Given the description of an element on the screen output the (x, y) to click on. 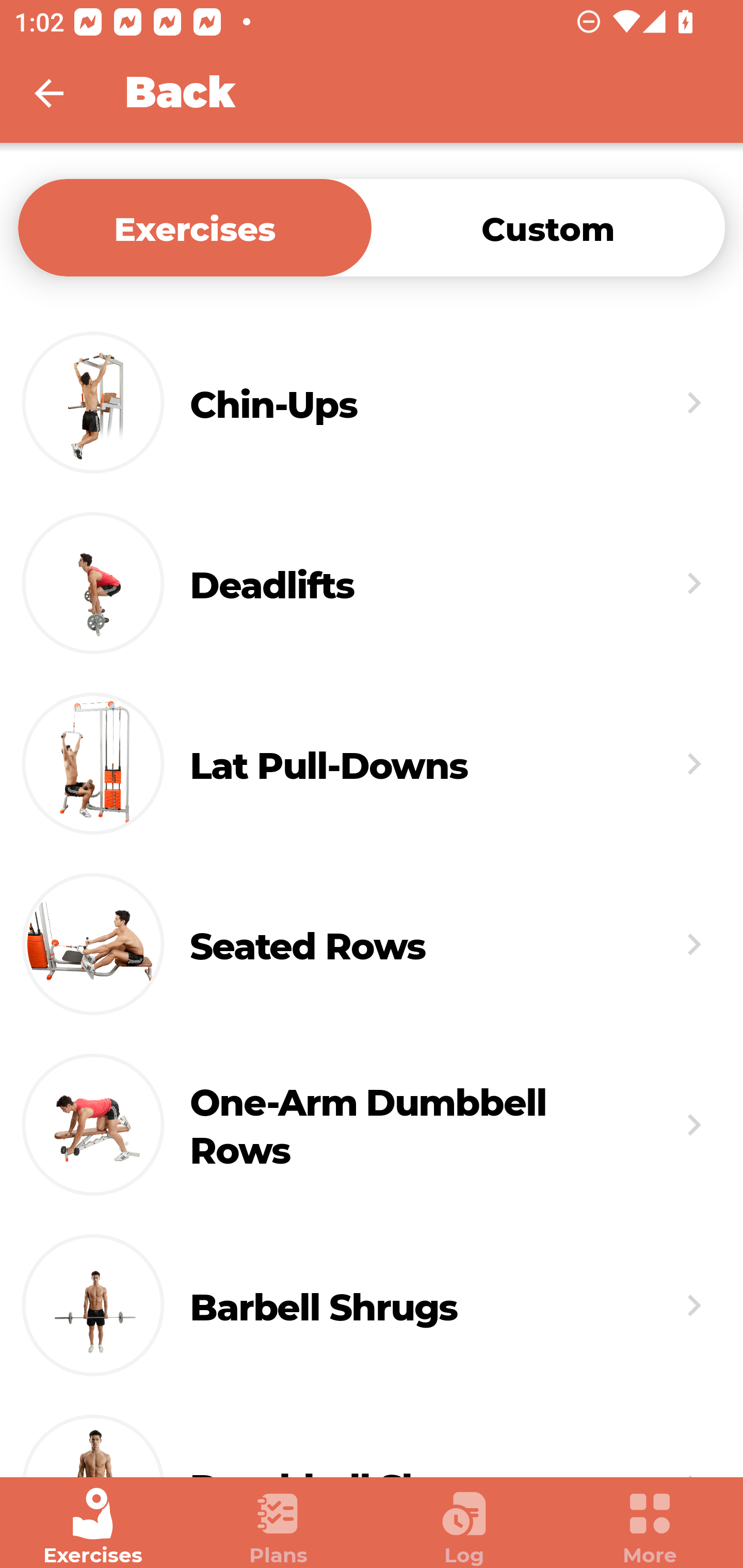
Back (62, 92)
Exercises (194, 226)
Custom (548, 226)
Exercises (92, 1527)
Plans (278, 1527)
Log (464, 1527)
More (650, 1527)
